Given the description of an element on the screen output the (x, y) to click on. 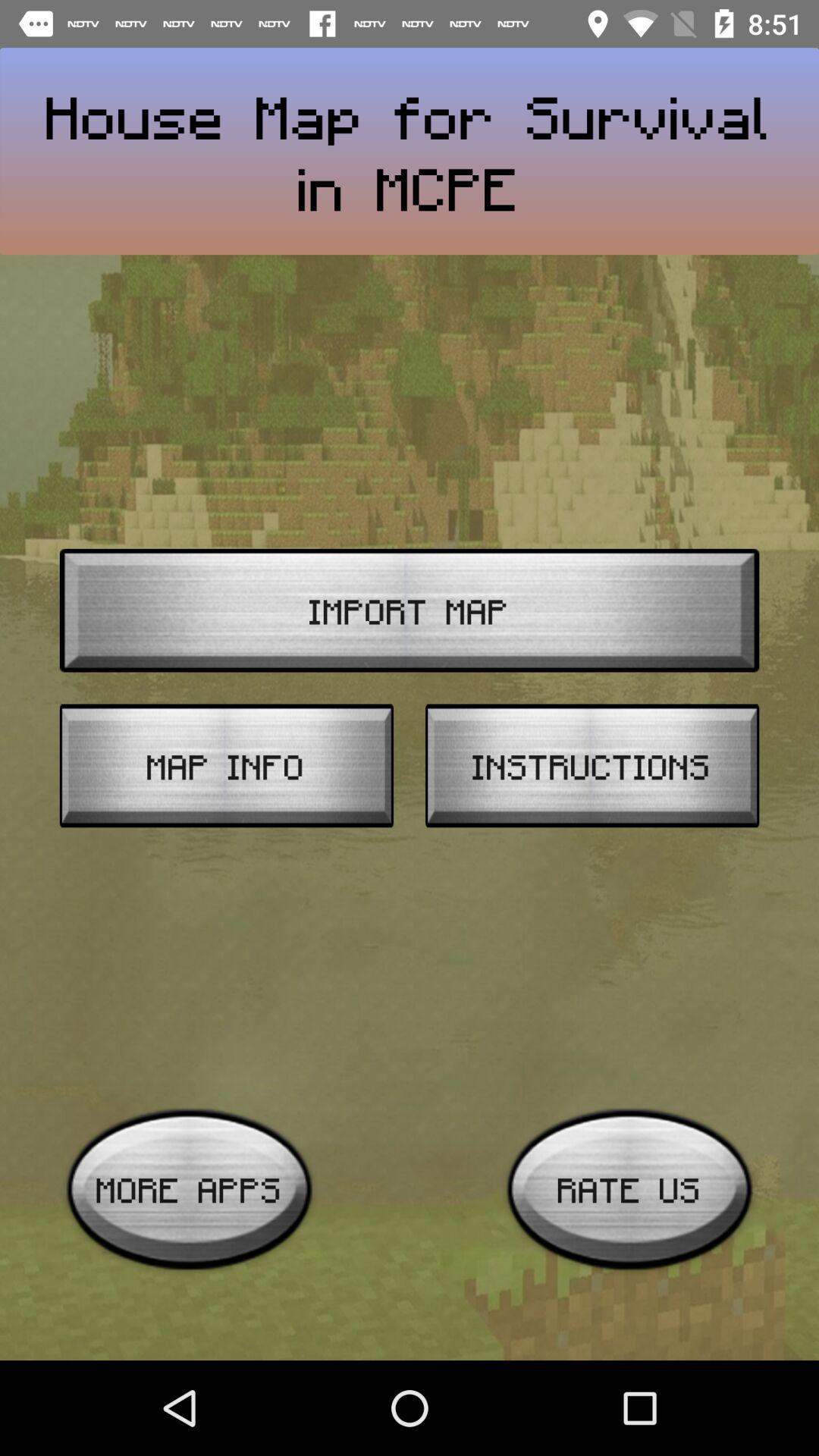
turn off the item above the rate us item (592, 765)
